Given the description of an element on the screen output the (x, y) to click on. 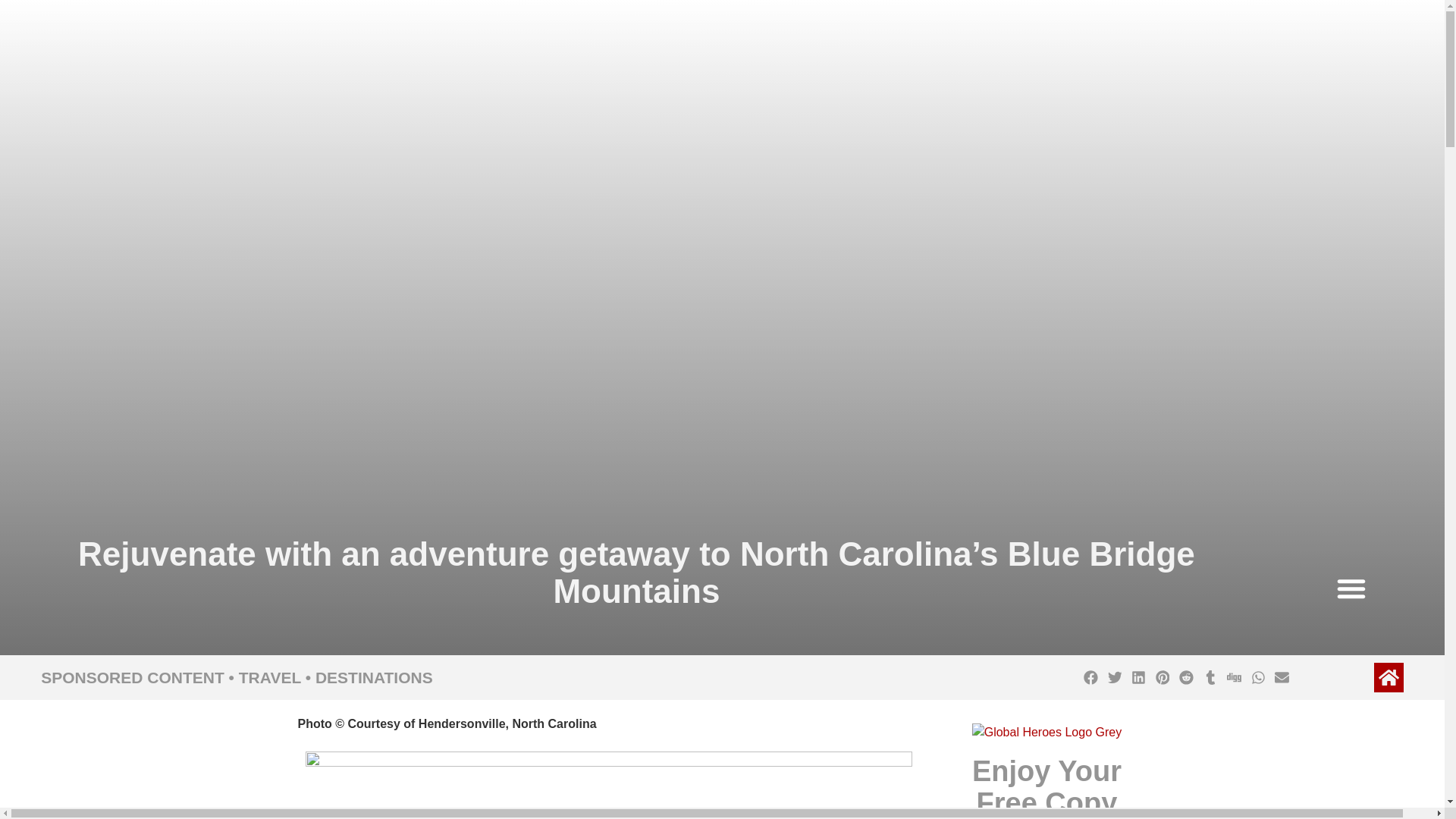
Global Heroes Logo Grey (1046, 732)
TRAVEL (269, 677)
DESTINATIONS (373, 677)
